Given the description of an element on the screen output the (x, y) to click on. 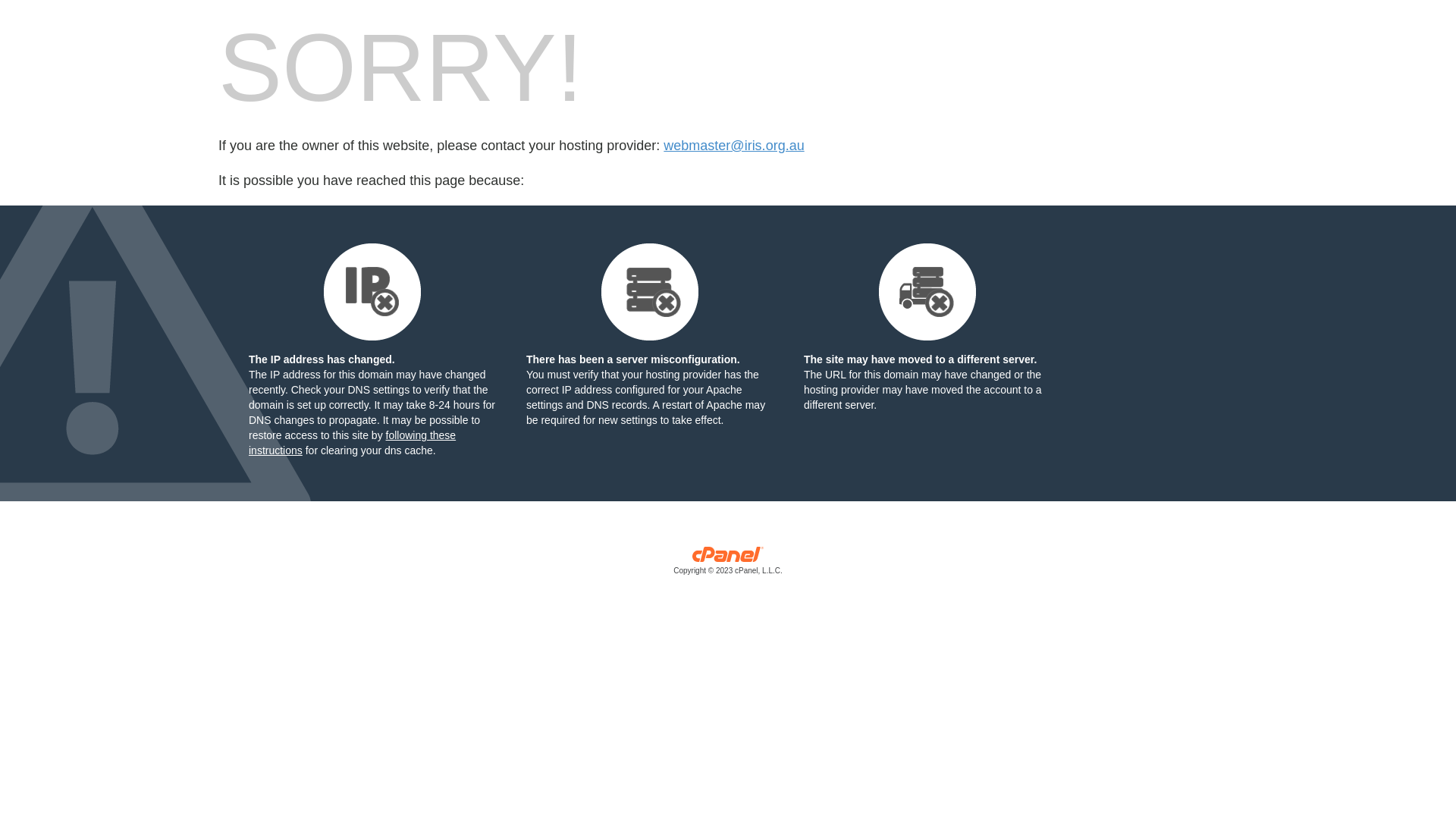
webmaster@iris.org.au Element type: text (733, 145)
following these instructions Element type: text (351, 442)
